Given the description of an element on the screen output the (x, y) to click on. 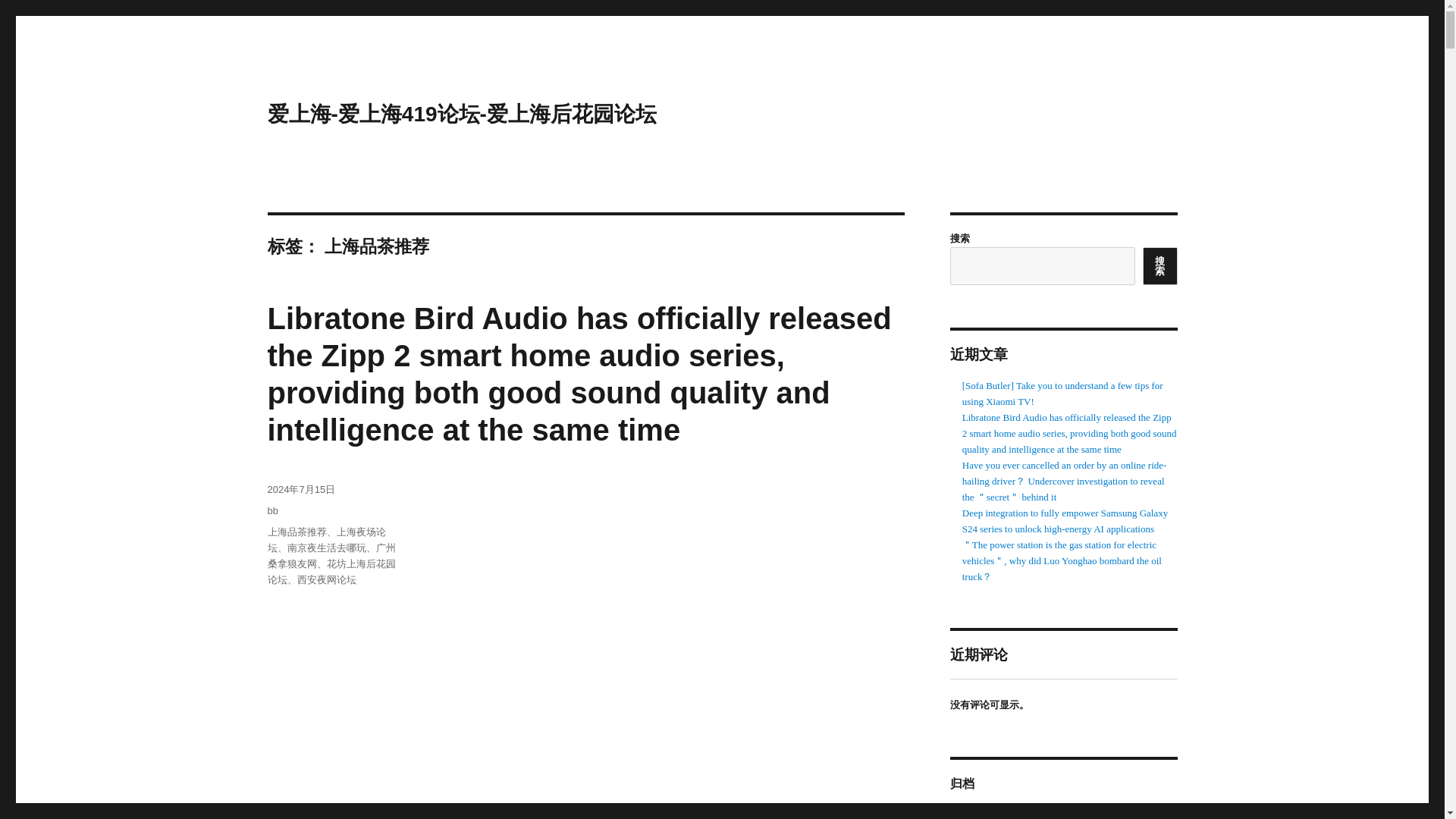
bb (272, 510)
